Given the description of an element on the screen output the (x, y) to click on. 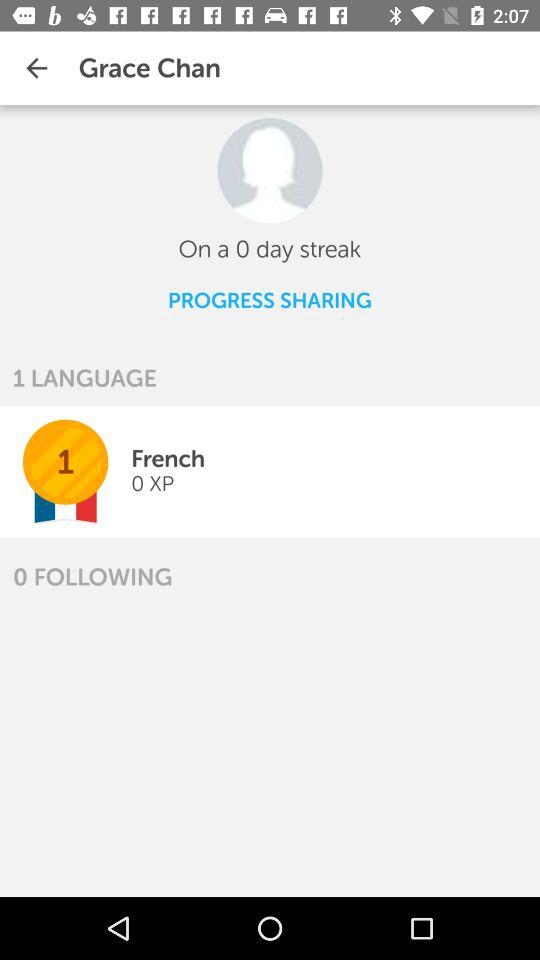
launch icon above 1 language item (269, 300)
